Given the description of an element on the screen output the (x, y) to click on. 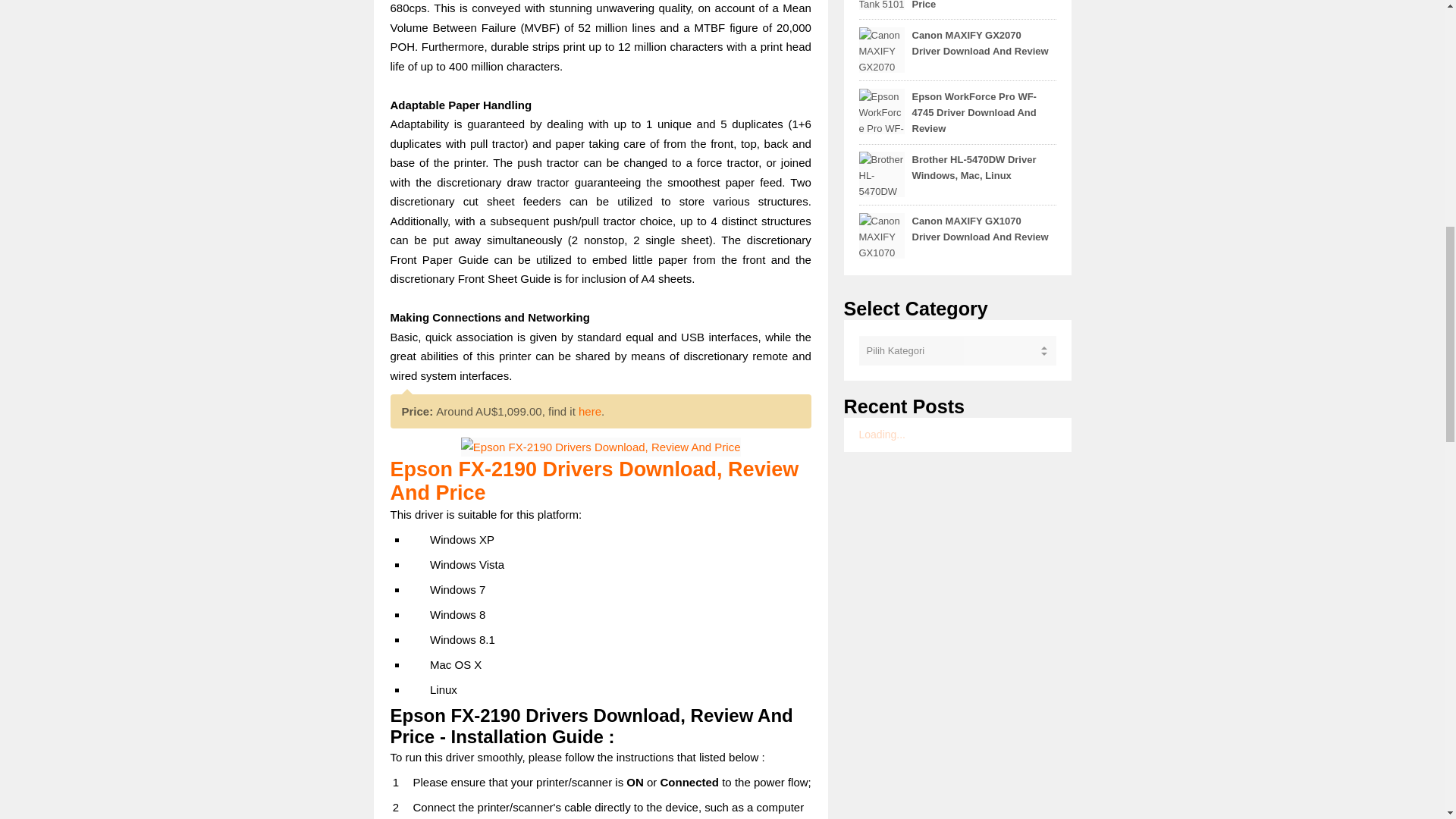
here (589, 410)
Epson FX-2190 (601, 447)
Epson FX-2190 Drivers Download, Review And Price (593, 480)
